Given the description of an element on the screen output the (x, y) to click on. 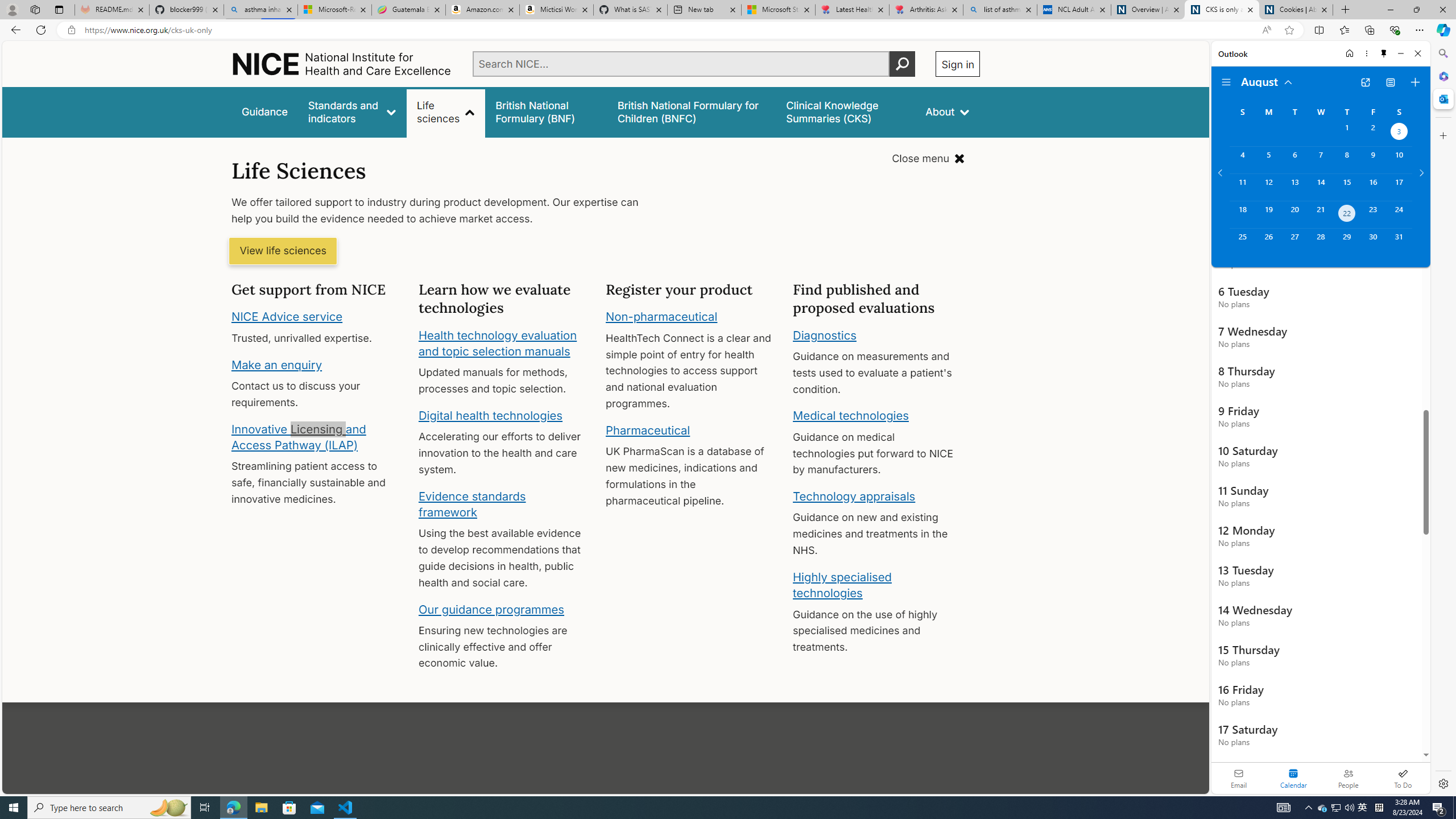
Diagnostics (824, 334)
Friday, August 23, 2024.  (1372, 214)
Thursday, August 1, 2024.  (1346, 132)
Highly specialised technologies (842, 584)
Saturday, August 24, 2024.  (1399, 214)
false (845, 111)
Selected calendar module. Date today is 22 (1293, 777)
